Given the description of an element on the screen output the (x, y) to click on. 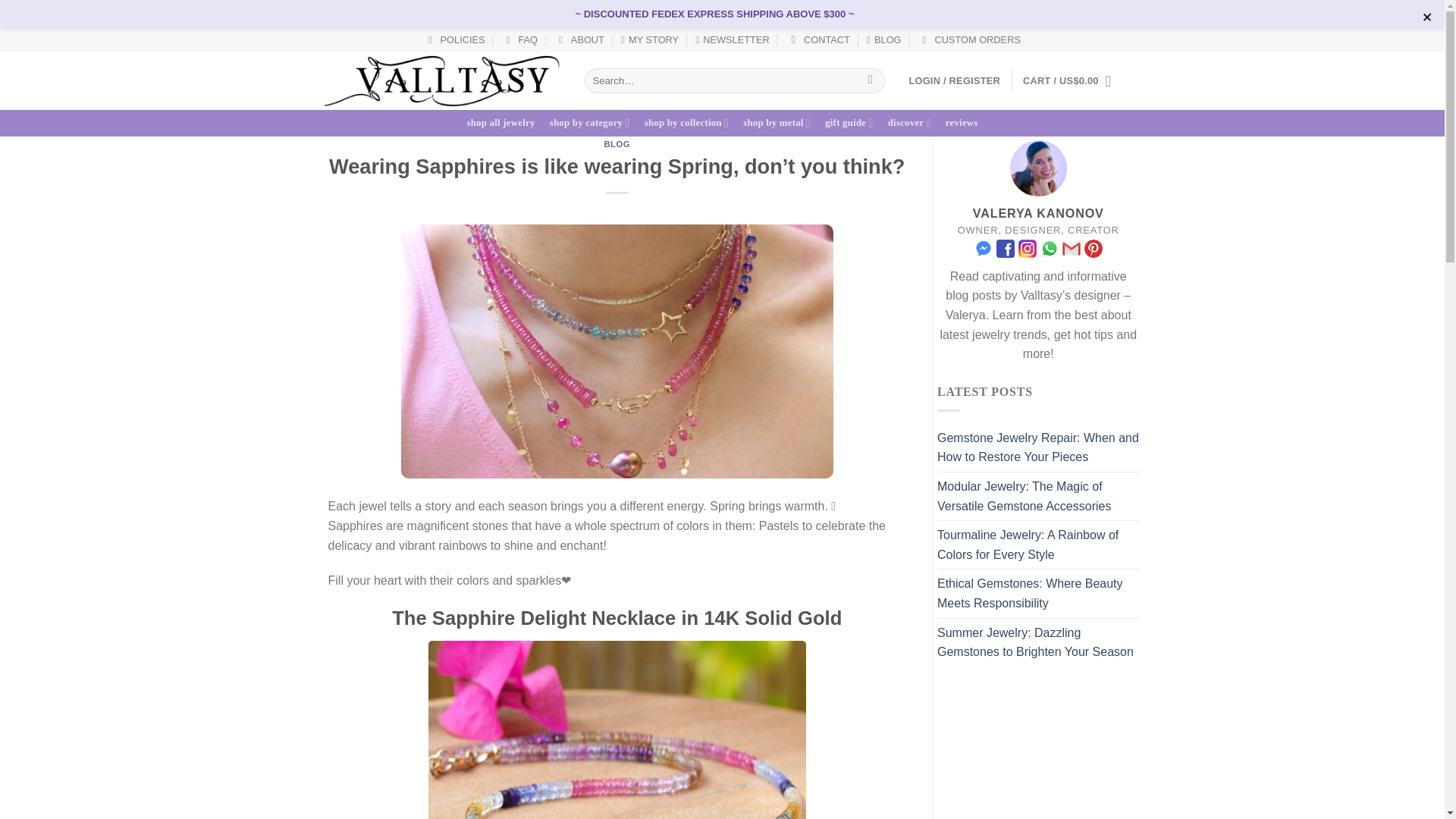
CUSTOM ORDERS (969, 39)
Place a custom order (969, 39)
Contact Valerya (818, 39)
Cart (1071, 80)
Frequently Asked Questions (519, 39)
ABOUT (579, 39)
CONTACT (818, 39)
Jewelry news and tips (883, 39)
FAQ (519, 39)
NEWSLETTER (732, 39)
BLOG (883, 39)
Discover the brand (579, 39)
shop all jewelry (500, 122)
Discover the designer behind Valltasy (649, 39)
